Given the description of an element on the screen output the (x, y) to click on. 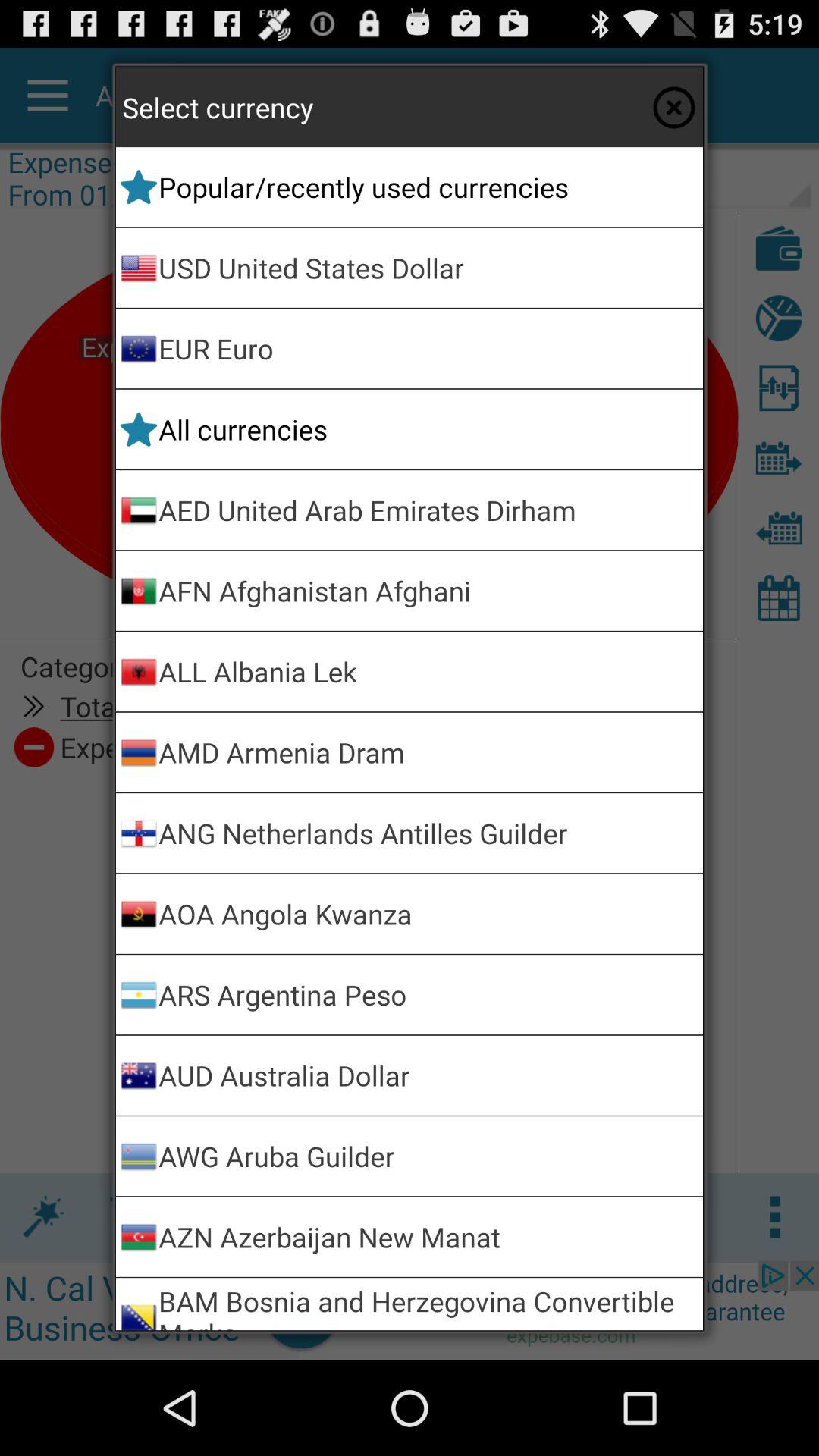
press bam bosnia and icon (427, 1303)
